Given the description of an element on the screen output the (x, y) to click on. 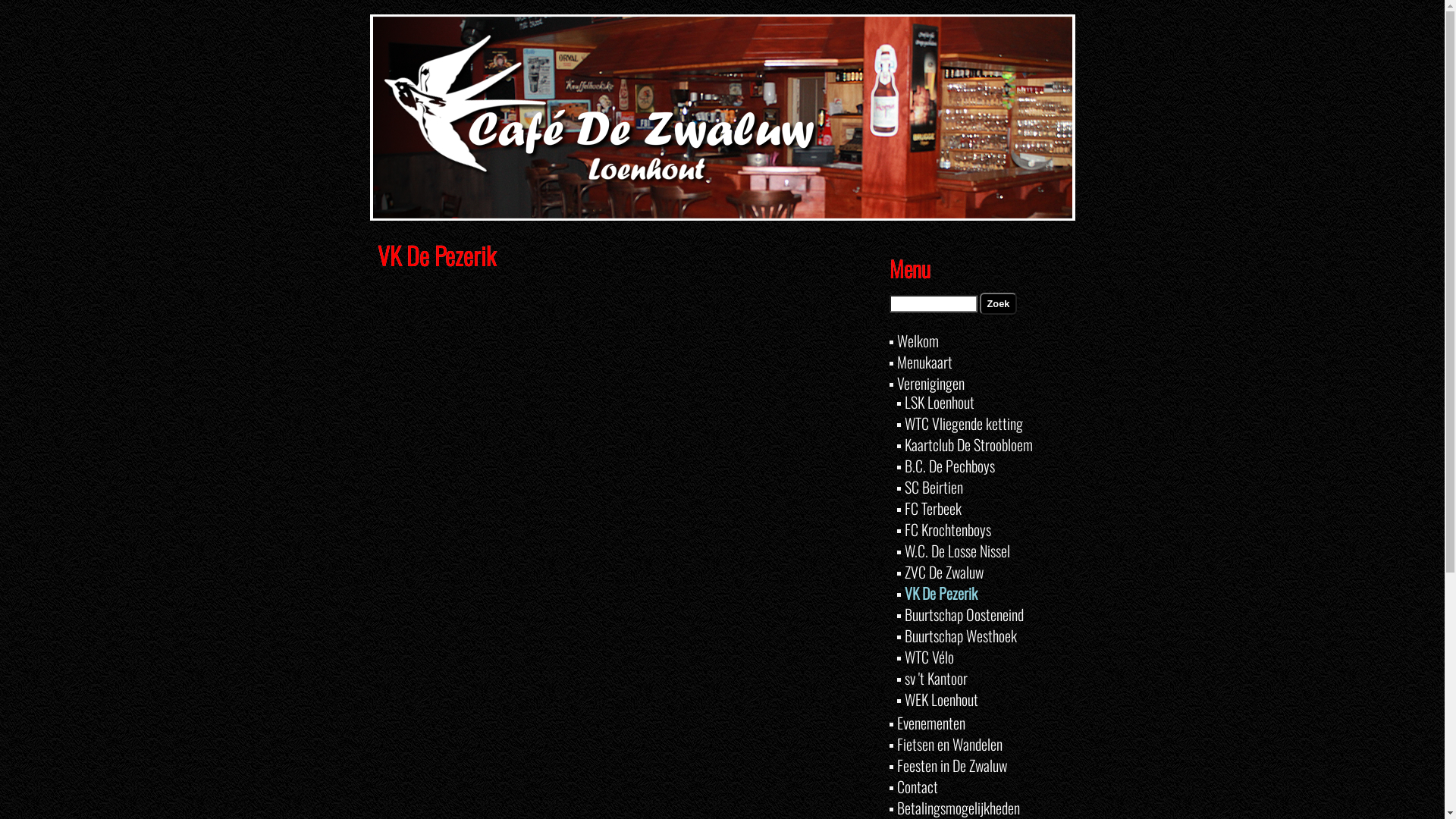
Evenementen Element type: text (930, 722)
LSK Loenhout Element type: text (938, 401)
Zoek Element type: text (998, 303)
Verenigingen Element type: text (929, 382)
ZVC De Zwaluw Element type: text (942, 571)
Menukaart Element type: text (923, 361)
SC Beirtien Element type: text (932, 486)
B.C. De Pechboys Element type: text (948, 465)
Welkom Element type: text (917, 340)
WEK Loenhout Element type: text (940, 698)
Contact Element type: text (916, 786)
FC Krochtenboys Element type: text (946, 528)
Kaartclub De Stroobloem Element type: text (967, 444)
Buurtschap Oosteneind Element type: text (962, 613)
FC Terbeek Element type: text (931, 507)
Fietsen en Wandelen Element type: text (948, 743)
Buurtschap Westhoek Element type: text (959, 635)
WTC Vliegende ketting Element type: text (962, 422)
Feesten in De Zwaluw Element type: text (951, 764)
sv 't Kantoor Element type: text (934, 677)
W.C. De Losse Nissel Element type: text (956, 550)
